Given the description of an element on the screen output the (x, y) to click on. 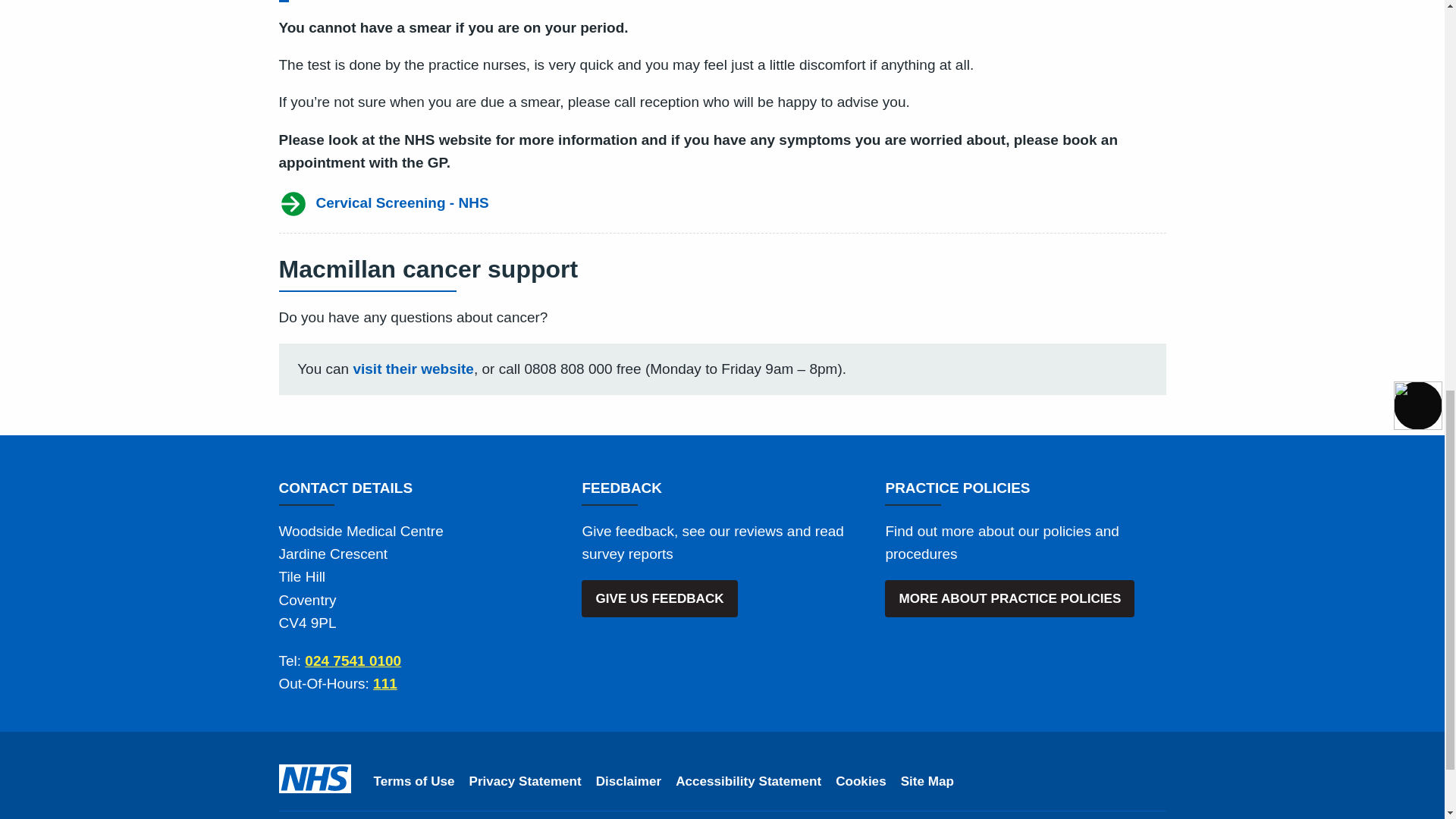
The NHS Logo (314, 778)
visit their website (412, 368)
Accessibility Statement (748, 781)
Disclaimer (628, 781)
GIVE US FEEDBACK (658, 597)
111 (384, 683)
Site Map (927, 781)
Cookies (860, 781)
Terms of Use (413, 781)
Privacy Statement (524, 781)
MORE ABOUT PRACTICE POLICIES (1009, 597)
024 7541 0100 (352, 660)
 Cervical Screening - NHS (722, 203)
